Given the description of an element on the screen output the (x, y) to click on. 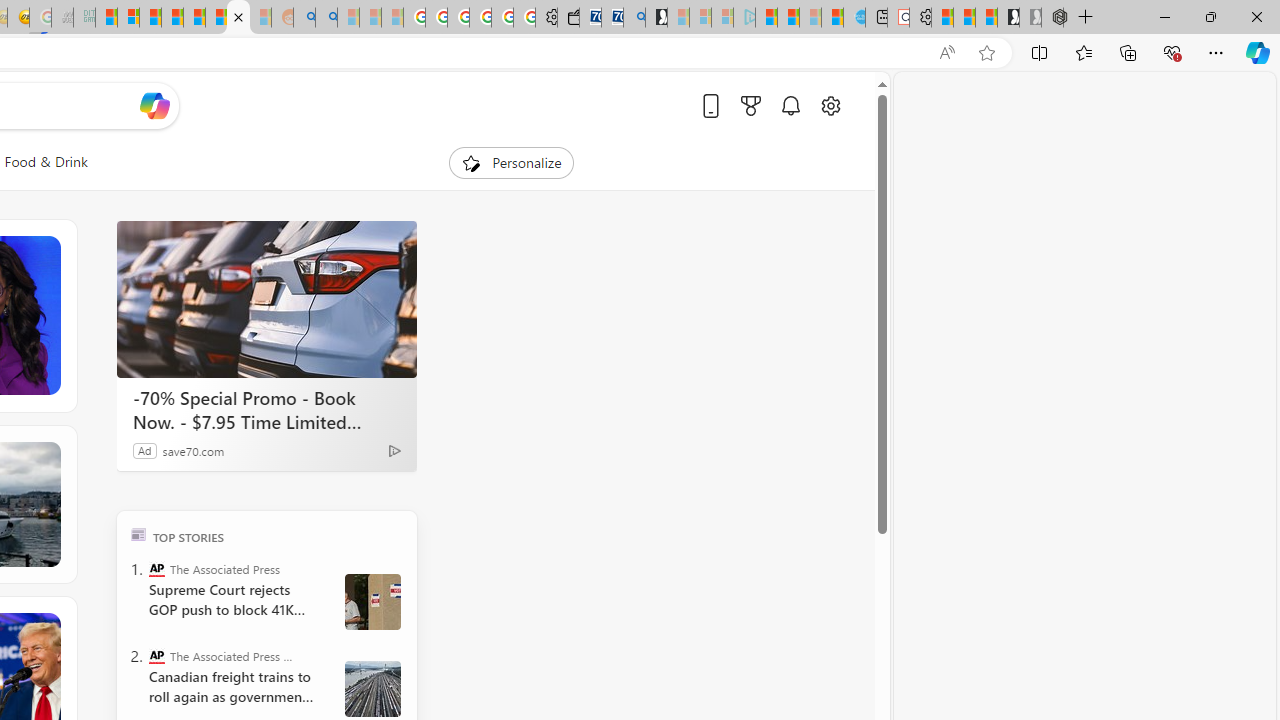
The Associated Press - Business News (156, 655)
 Canada Railroads Unions (372, 688)
